Given the description of an element on the screen output the (x, y) to click on. 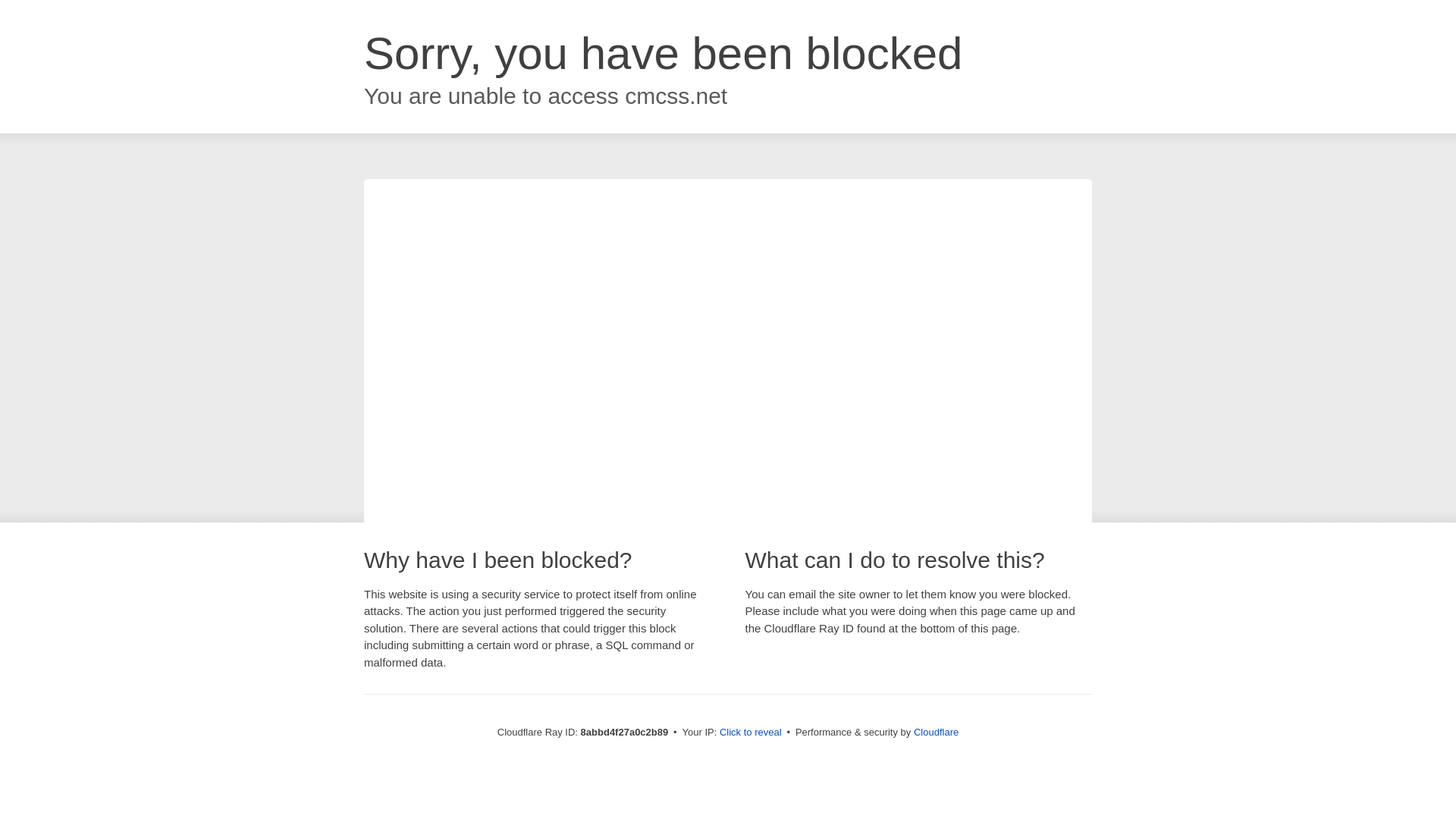
Click to reveal (750, 732)
Cloudflare (936, 731)
